Given the description of an element on the screen output the (x, y) to click on. 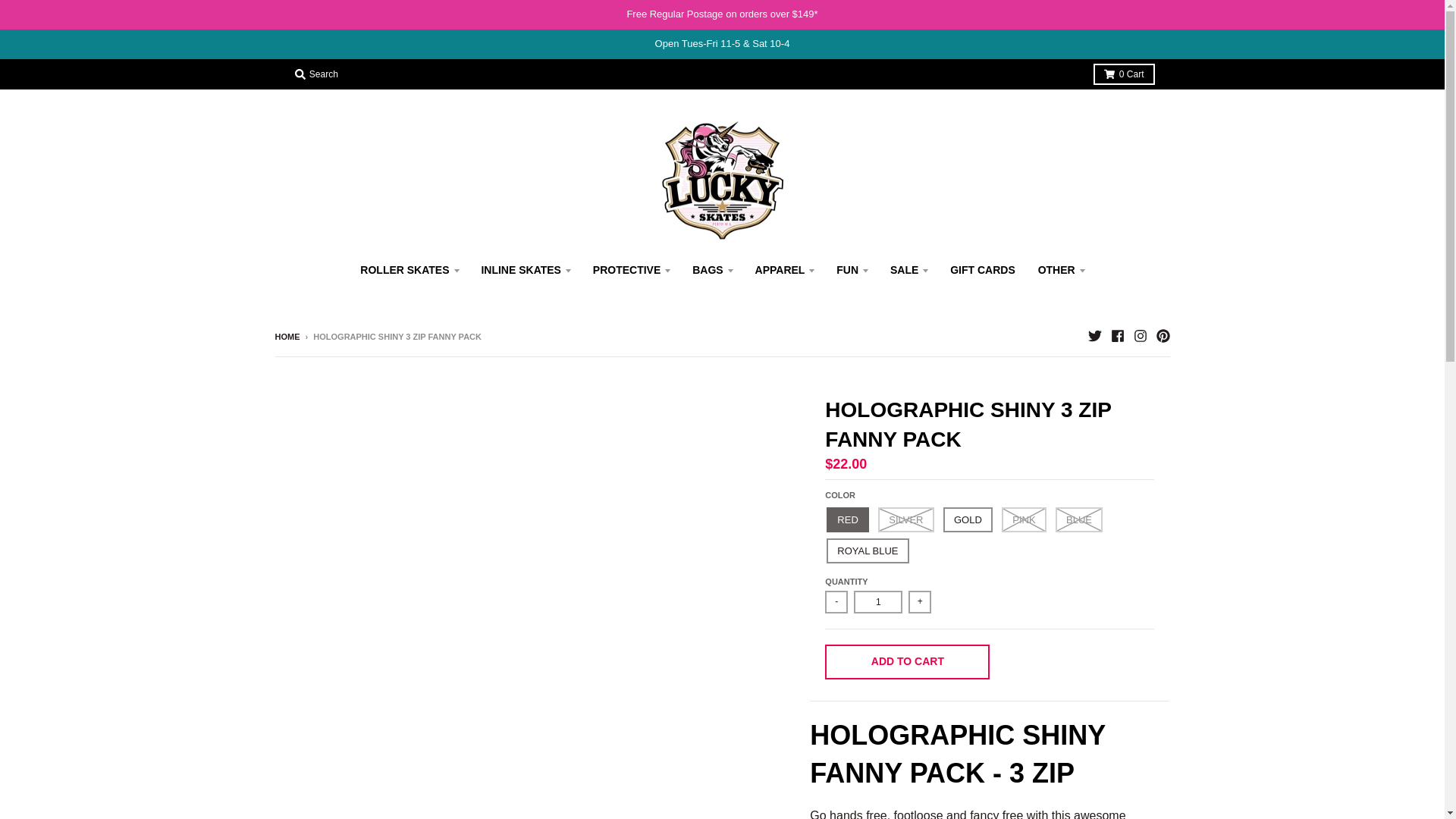
Facebook - Lucky Skates Pty Ltd (1116, 336)
ROLLER SKATES (408, 269)
1 (877, 601)
Twitter - Lucky Skates Pty Ltd (1093, 336)
Red (847, 519)
INLINE SKATES (524, 269)
0 Cart (1123, 74)
Pinterest - Lucky Skates Pty Ltd (1162, 336)
Gold (967, 519)
